Given the description of an element on the screen output the (x, y) to click on. 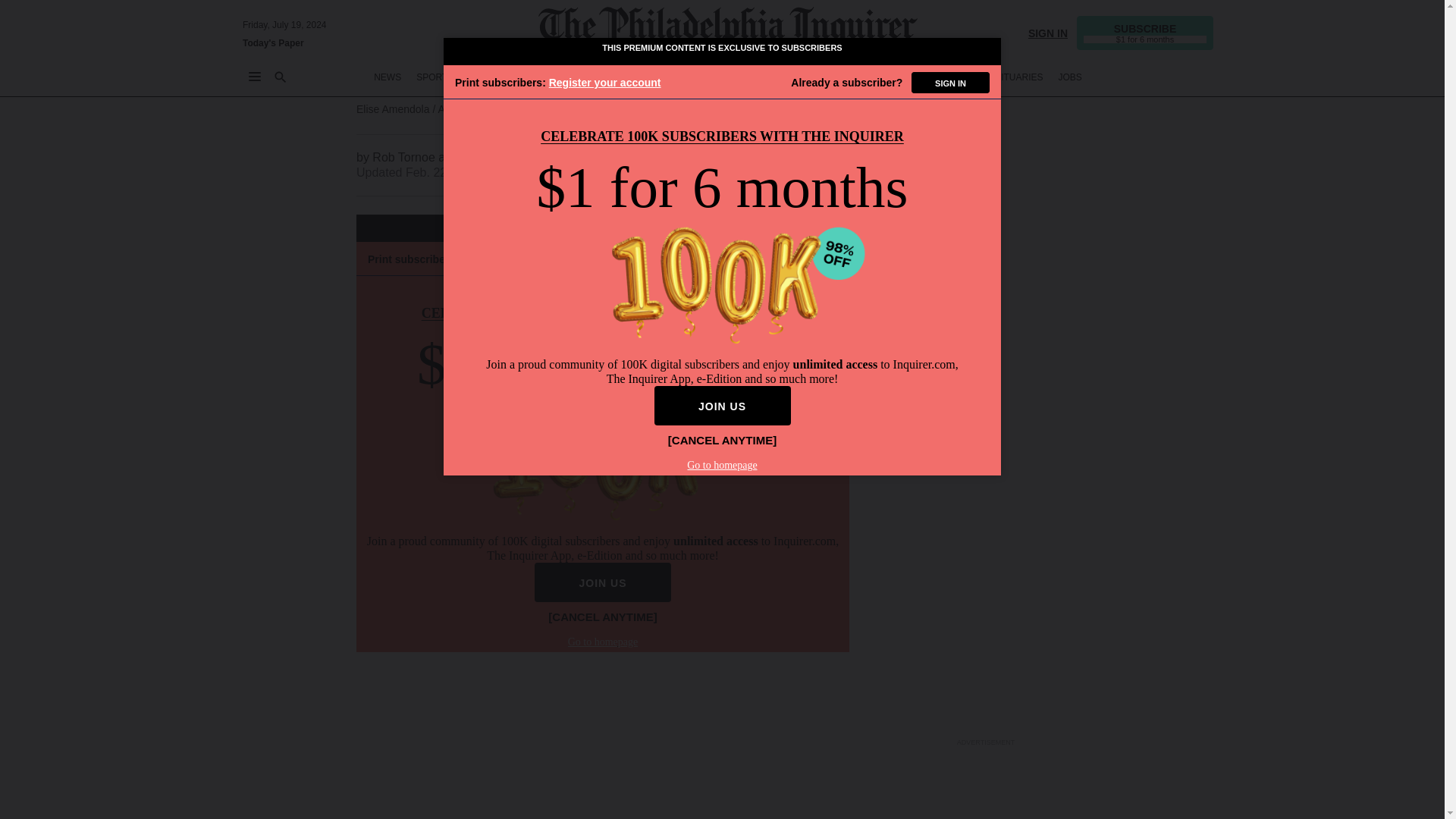
3rd party ad content (985, 102)
